Given the description of an element on the screen output the (x, y) to click on. 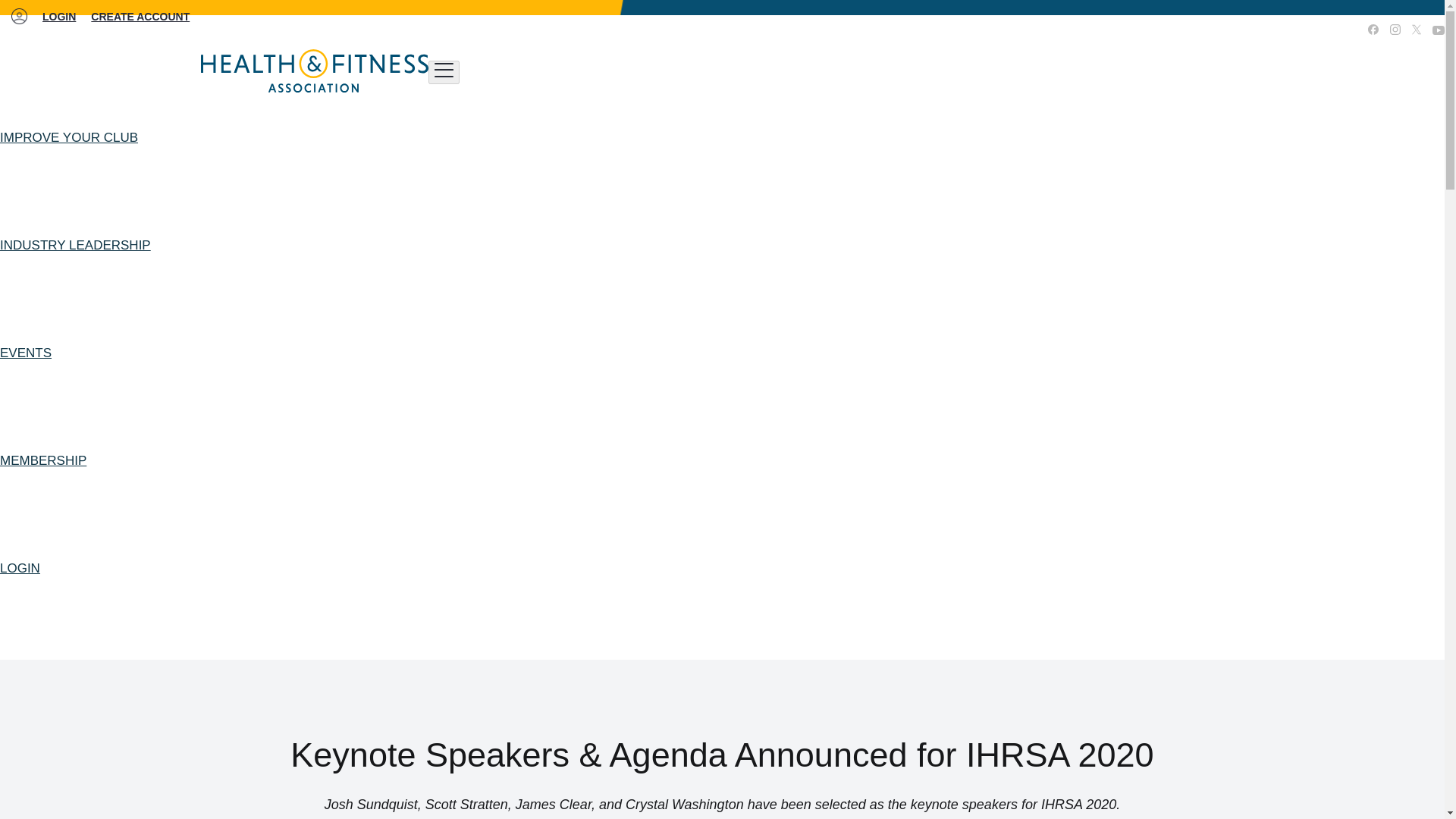
CREATE ACCOUNT (139, 16)
INDUSTRY LEADERSHIP (75, 245)
IMPROVE YOUR CLUB (69, 137)
ABOUT (1261, 30)
CONTACT (1317, 30)
Toggle navigation (444, 72)
SEARCH (1209, 30)
LOGIN (58, 16)
